Given the description of an element on the screen output the (x, y) to click on. 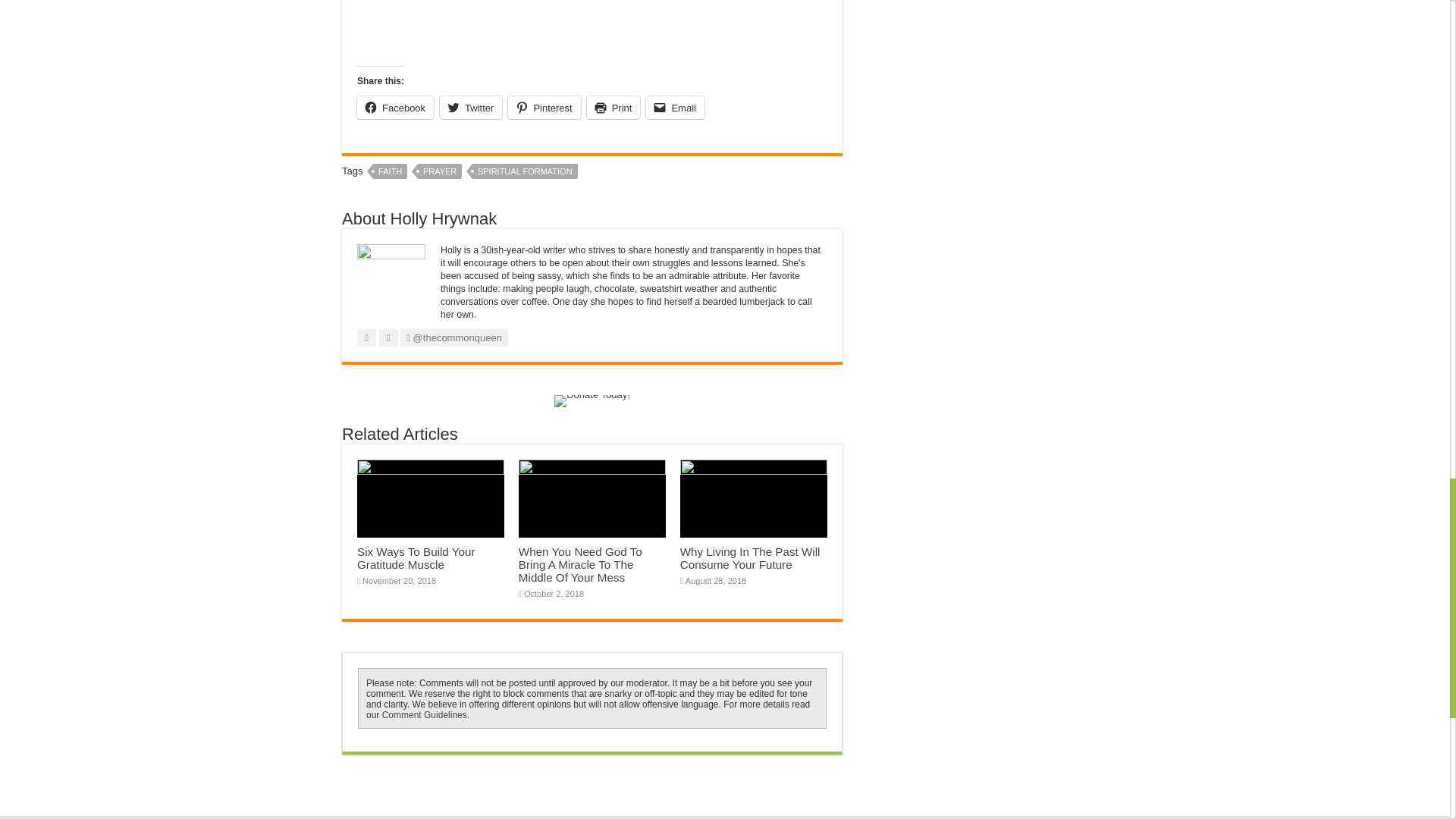
FAITH (389, 171)
Facebook (394, 107)
Print (613, 107)
Pinterest (543, 107)
Email (675, 107)
Twitter (470, 107)
PRAYER (439, 171)
